Given the description of an element on the screen output the (x, y) to click on. 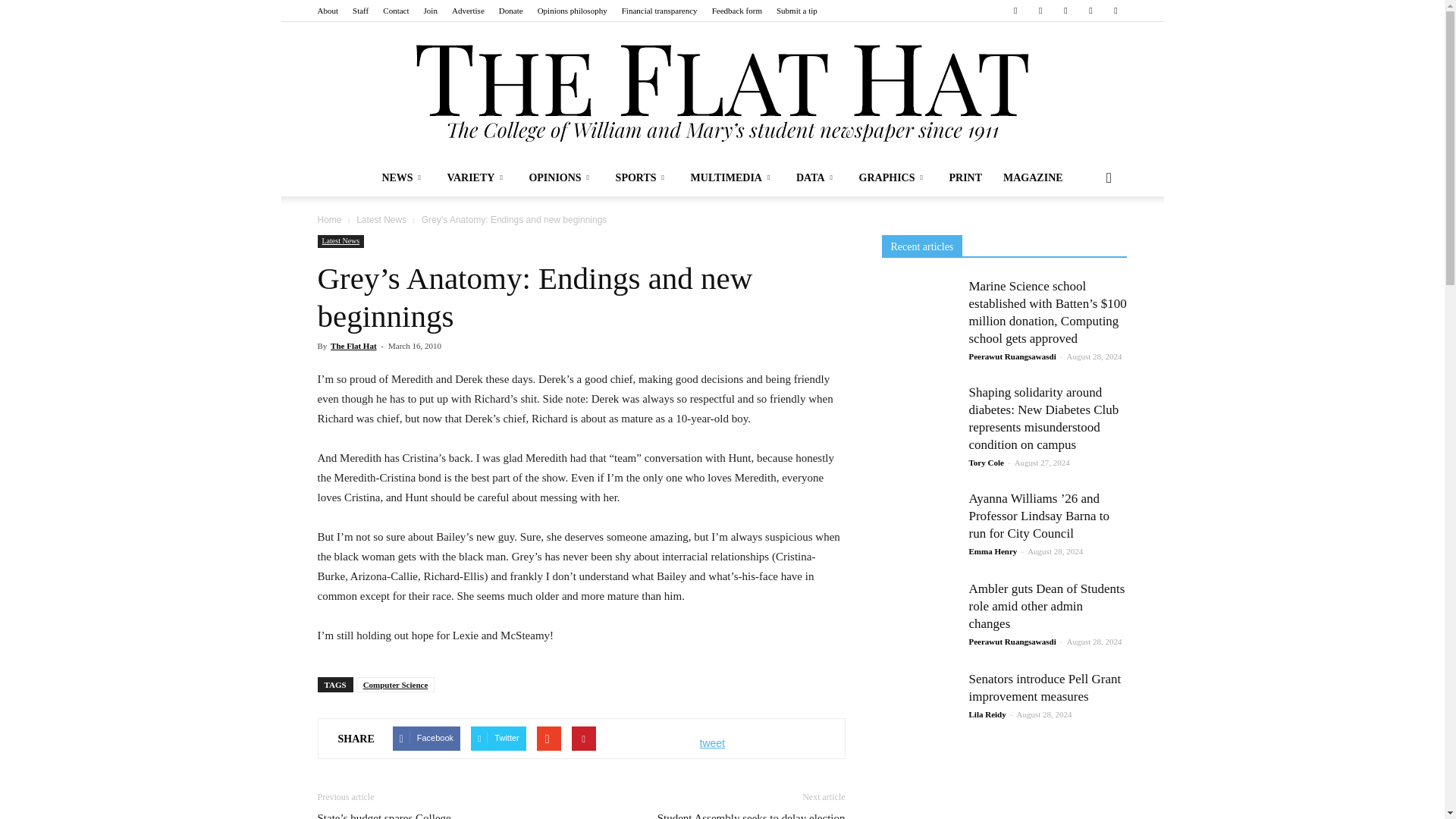
Twitter (1090, 10)
Instagram (1040, 10)
Youtube (1114, 10)
Facebook (1015, 10)
Spotify (1065, 10)
